Given the description of an element on the screen output the (x, y) to click on. 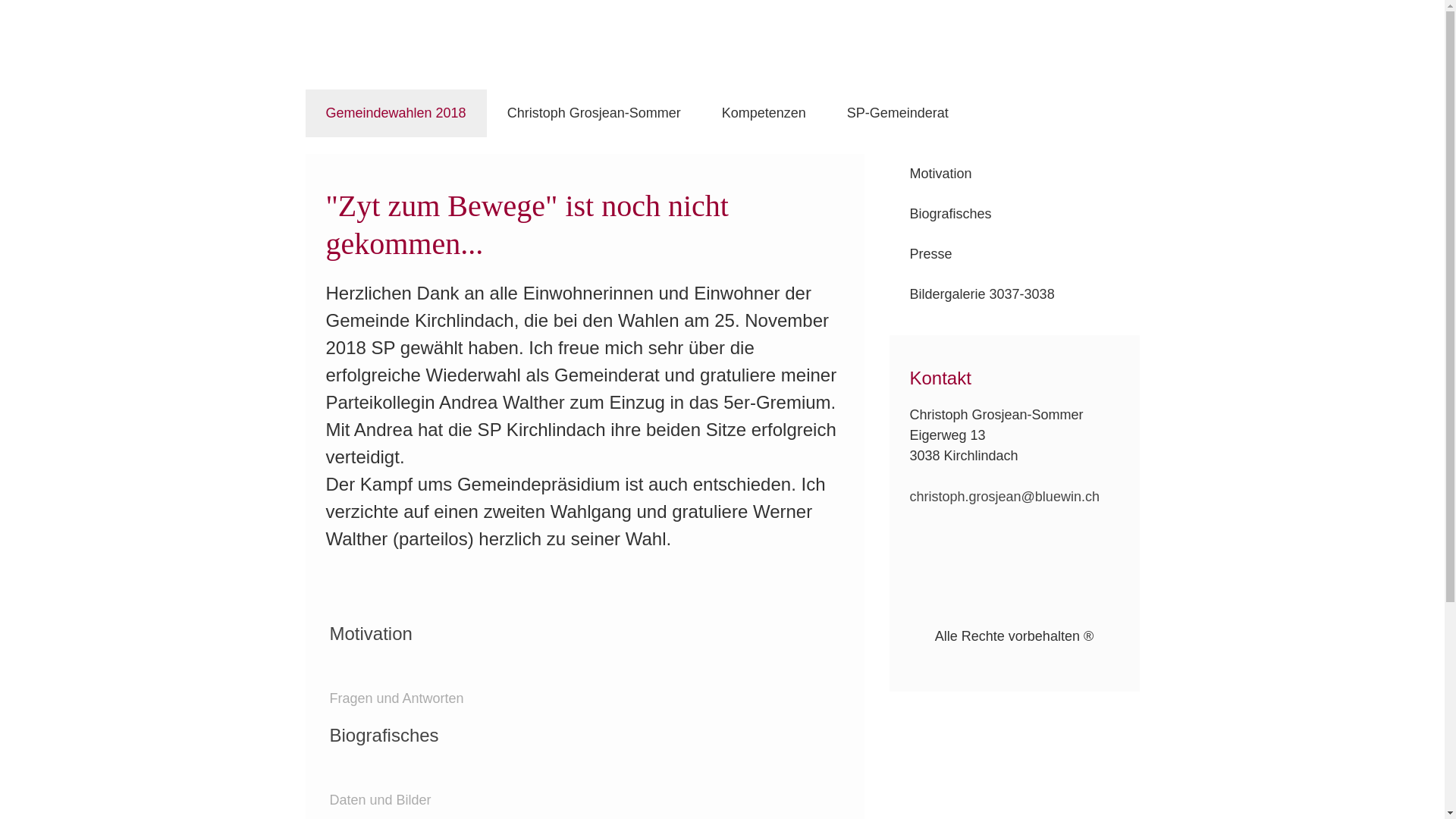
Presse Element type: text (1013, 254)
Gemeindewahlen 2018 Element type: text (395, 113)
Daten und Bilder Element type: text (379, 799)
Fragen und Antworten Element type: text (396, 698)
SP-Gemeinderat Element type: text (897, 113)
Motivation Element type: text (1013, 173)
christoph.grosjean@bluewin.ch Element type: text (1004, 496)
Biografisches Element type: text (1013, 214)
Christoph Grosjean-Sommer Element type: text (593, 113)
Bildergalerie 3037-3038 Element type: text (1013, 294)
Kompetenzen Element type: text (763, 113)
